Given the description of an element on the screen output the (x, y) to click on. 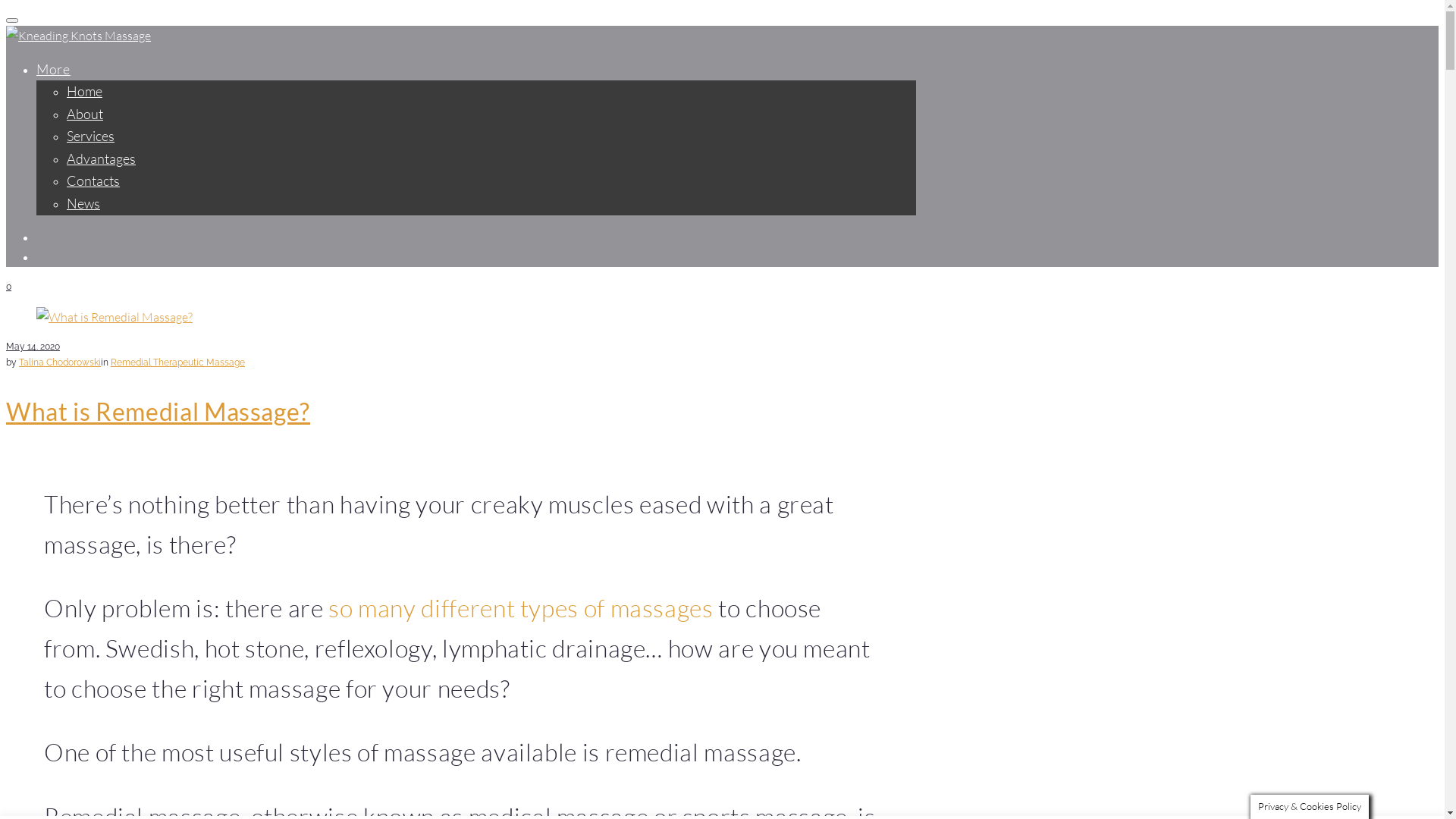
News Element type: text (83, 202)
0 Element type: text (8, 286)
Advantages Element type: text (100, 158)
Cookie settings Element type: text (974, 793)
More Element type: text (53, 68)
Remedial Therapeutic Massage Element type: text (177, 362)
Home Element type: text (84, 90)
so many different types of massages Element type: text (520, 607)
What is Remedial Massage? Element type: text (158, 411)
Talina Chodorowski Element type: text (59, 362)
Contacts Element type: text (92, 180)
May 14. 2020 Element type: text (32, 346)
Services Element type: text (90, 135)
ACCEPT Element type: text (1059, 794)
About Element type: text (84, 113)
